Given the description of an element on the screen output the (x, y) to click on. 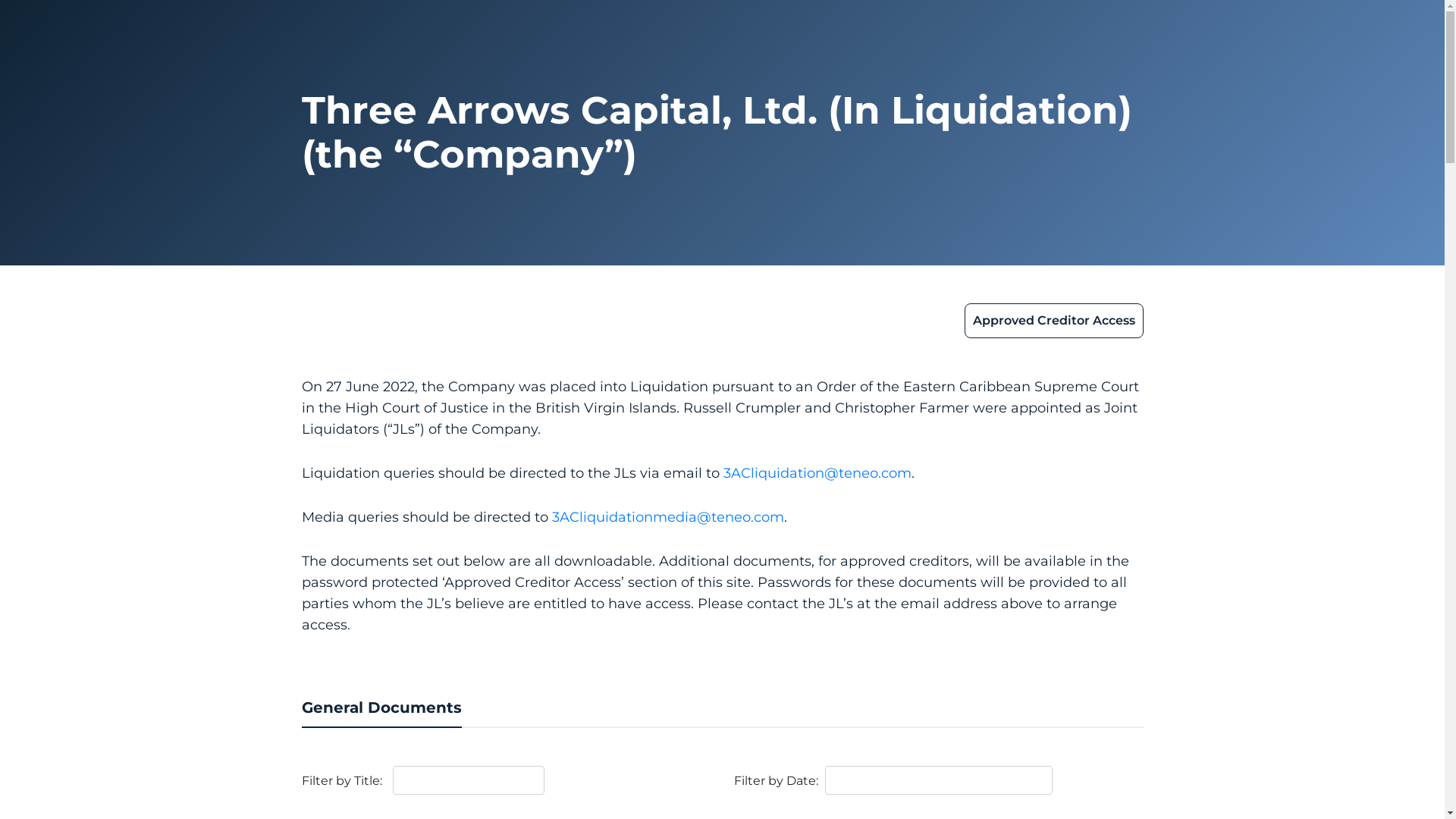
3ACliquidation@teneo.com Element type: text (817, 472)
3ACliquidationmedia@teneo.com Element type: text (668, 516)
Approved Creditor Access Element type: text (1053, 320)
